Given the description of an element on the screen output the (x, y) to click on. 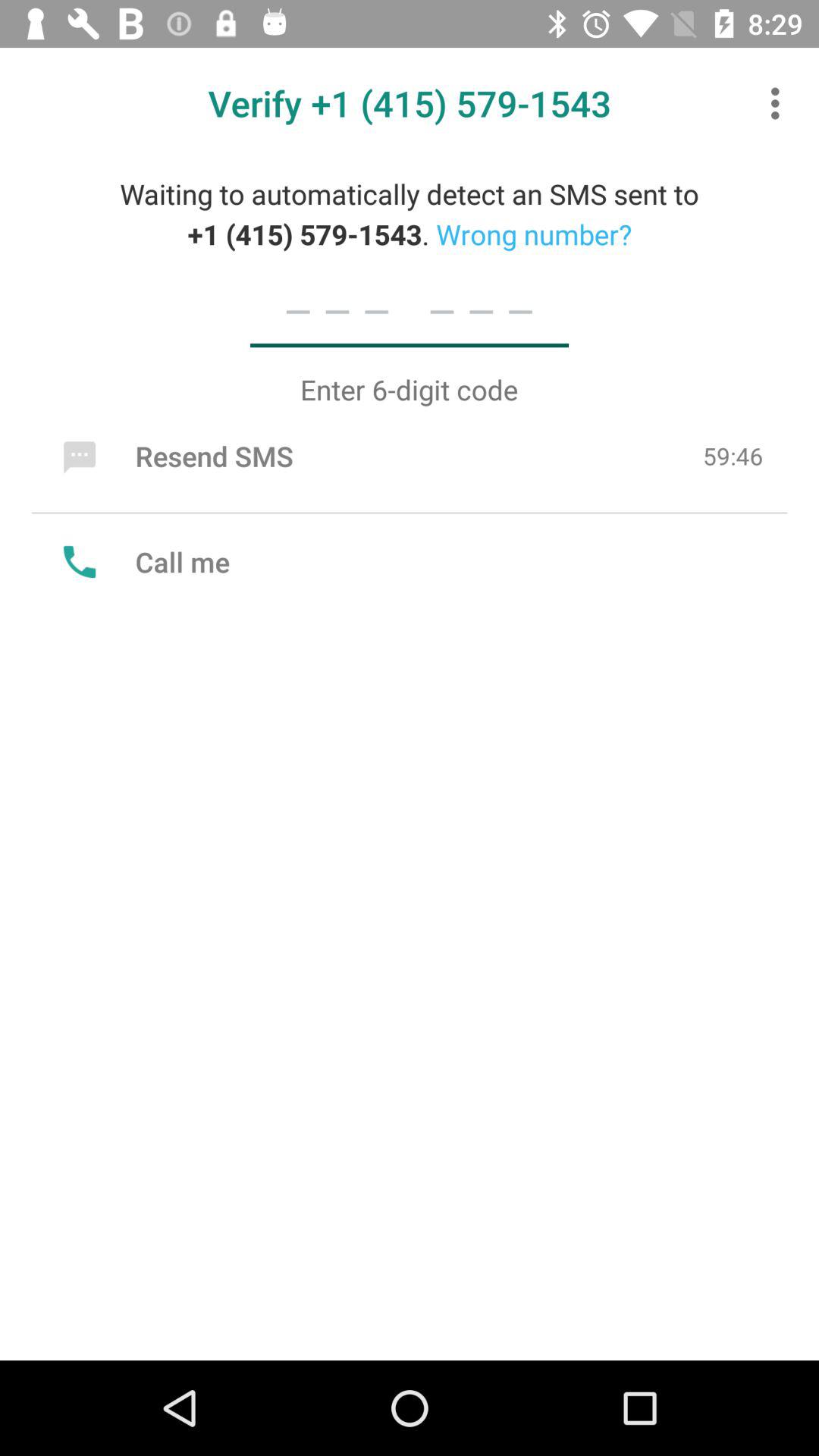
open the icon next to verify 1 415 icon (779, 103)
